Given the description of an element on the screen output the (x, y) to click on. 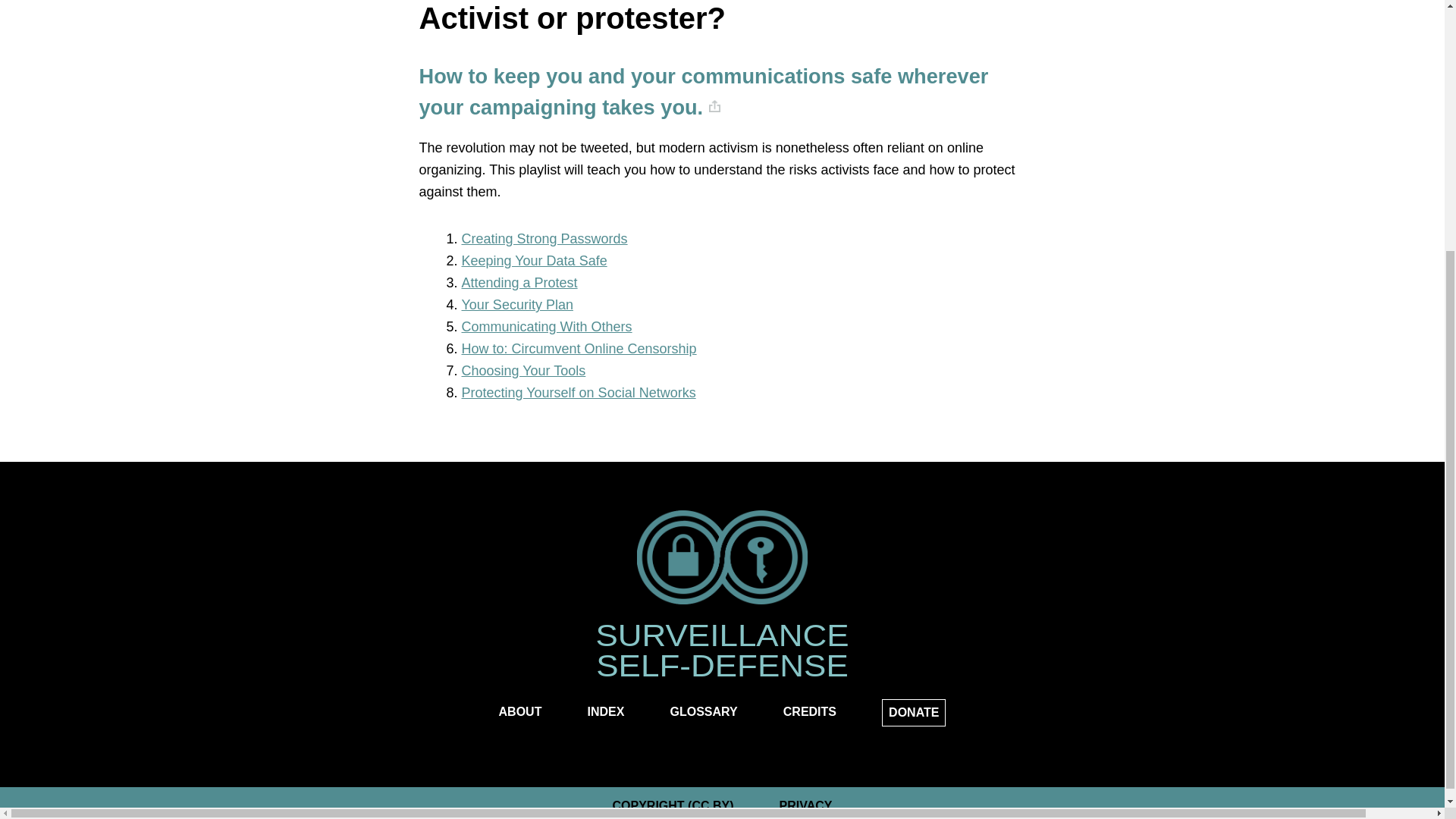
MORE TRANSLATIONS (854, 167)
Home (722, 559)
BURMESE (854, 30)
MANDARIN (854, 6)
